Given the description of an element on the screen output the (x, y) to click on. 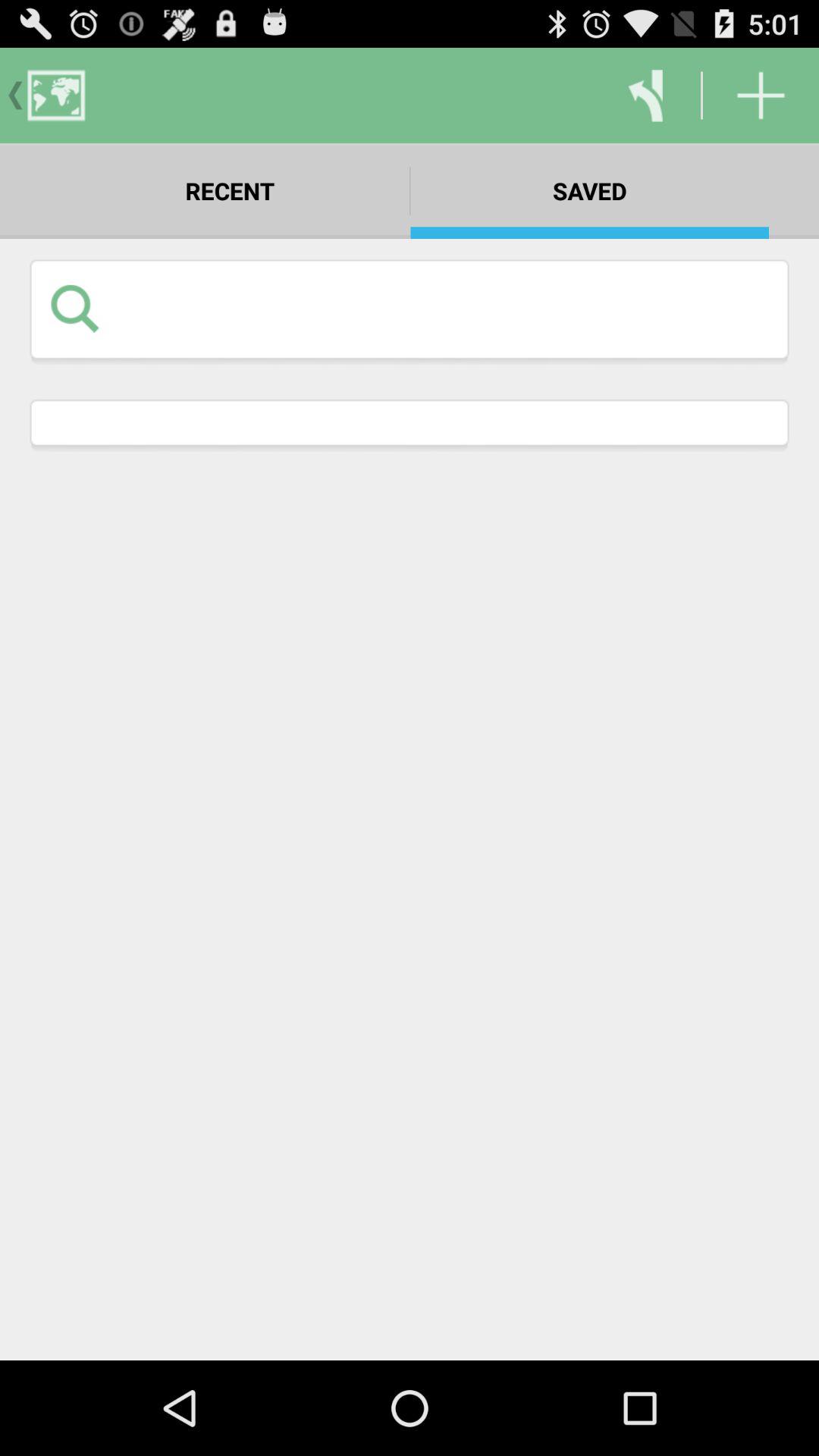
google search page (442, 308)
